Given the description of an element on the screen output the (x, y) to click on. 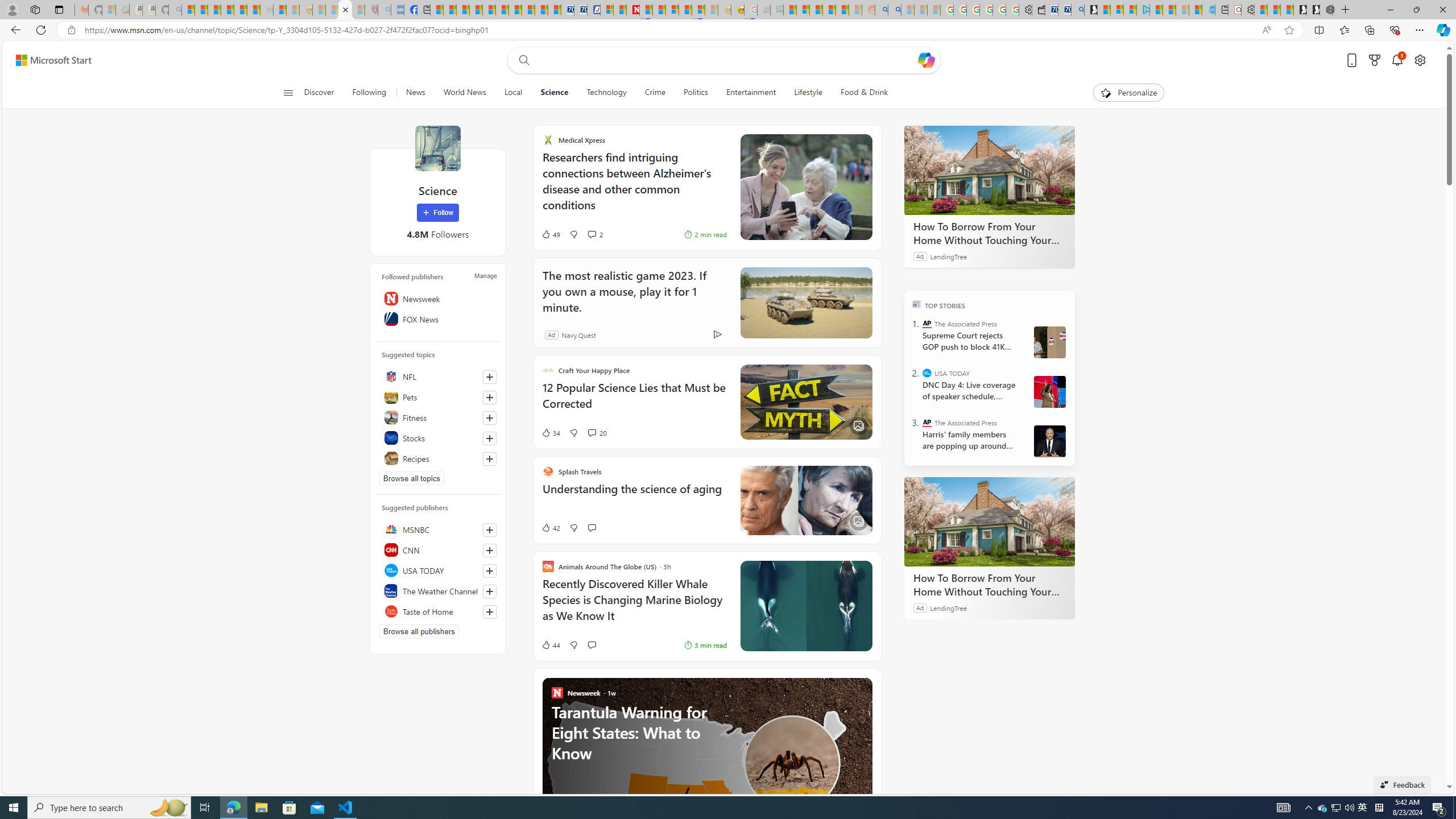
Cheap Hotels - Save70.com (580, 9)
Student Loan Update: Forgiveness Program Ends This Month (842, 9)
Wallet (1037, 9)
